Given the description of an element on the screen output the (x, y) to click on. 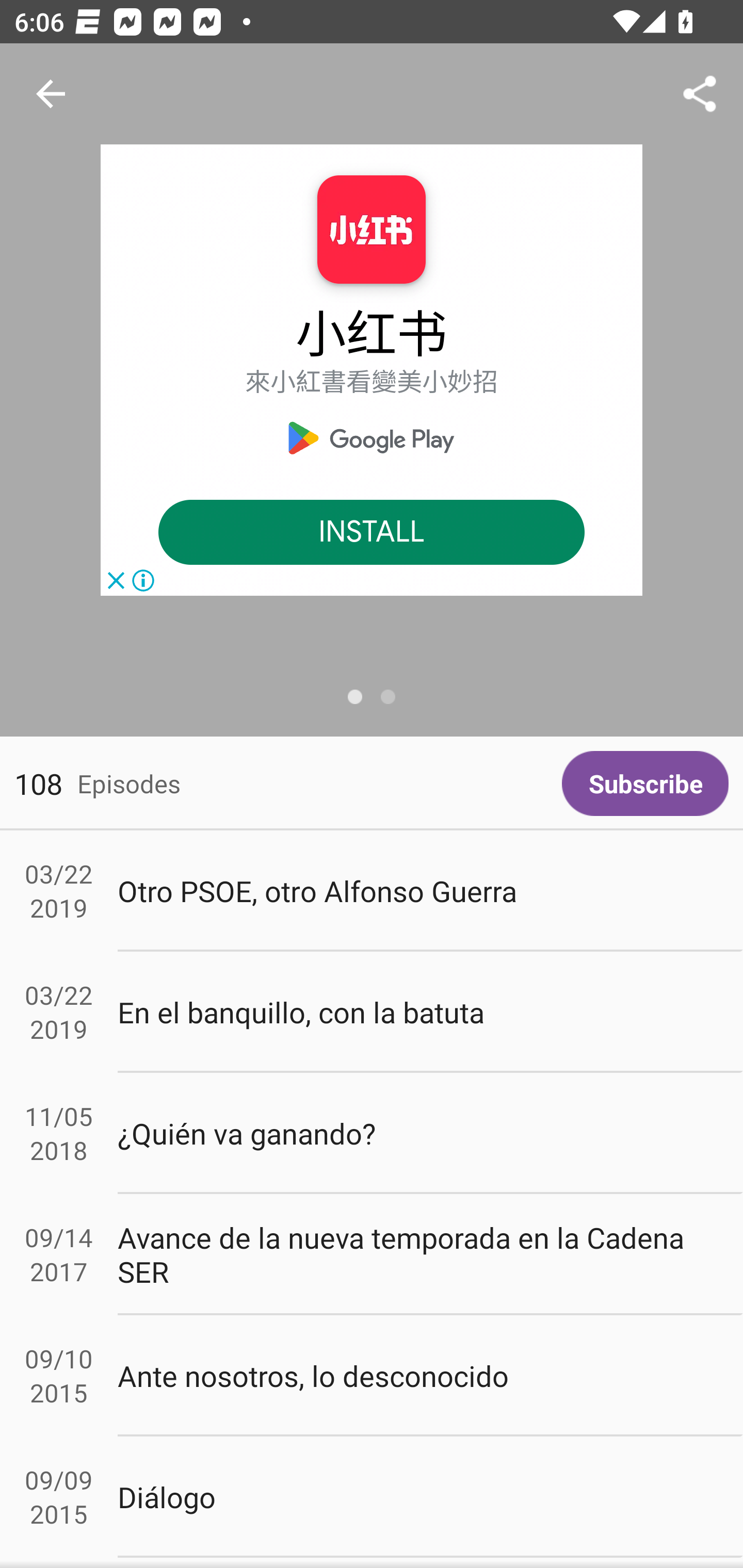
Navigate up (50, 93)
Share... (699, 93)
小红书 來小紅書看變美小妙招 INSTALL INSTALL (371, 369)
INSTALL (371, 532)
Subscribe (644, 783)
03/22 2019 Otro PSOE, otro Alfonso Guerra (371, 891)
03/22 2019 En el banquillo, con la batuta (371, 1011)
11/05 2018 ¿Quién va ganando? (371, 1133)
09/10 2015 Ante nosotros, lo desconocido (371, 1375)
09/09 2015 Diálogo (371, 1496)
